Given the description of an element on the screen output the (x, y) to click on. 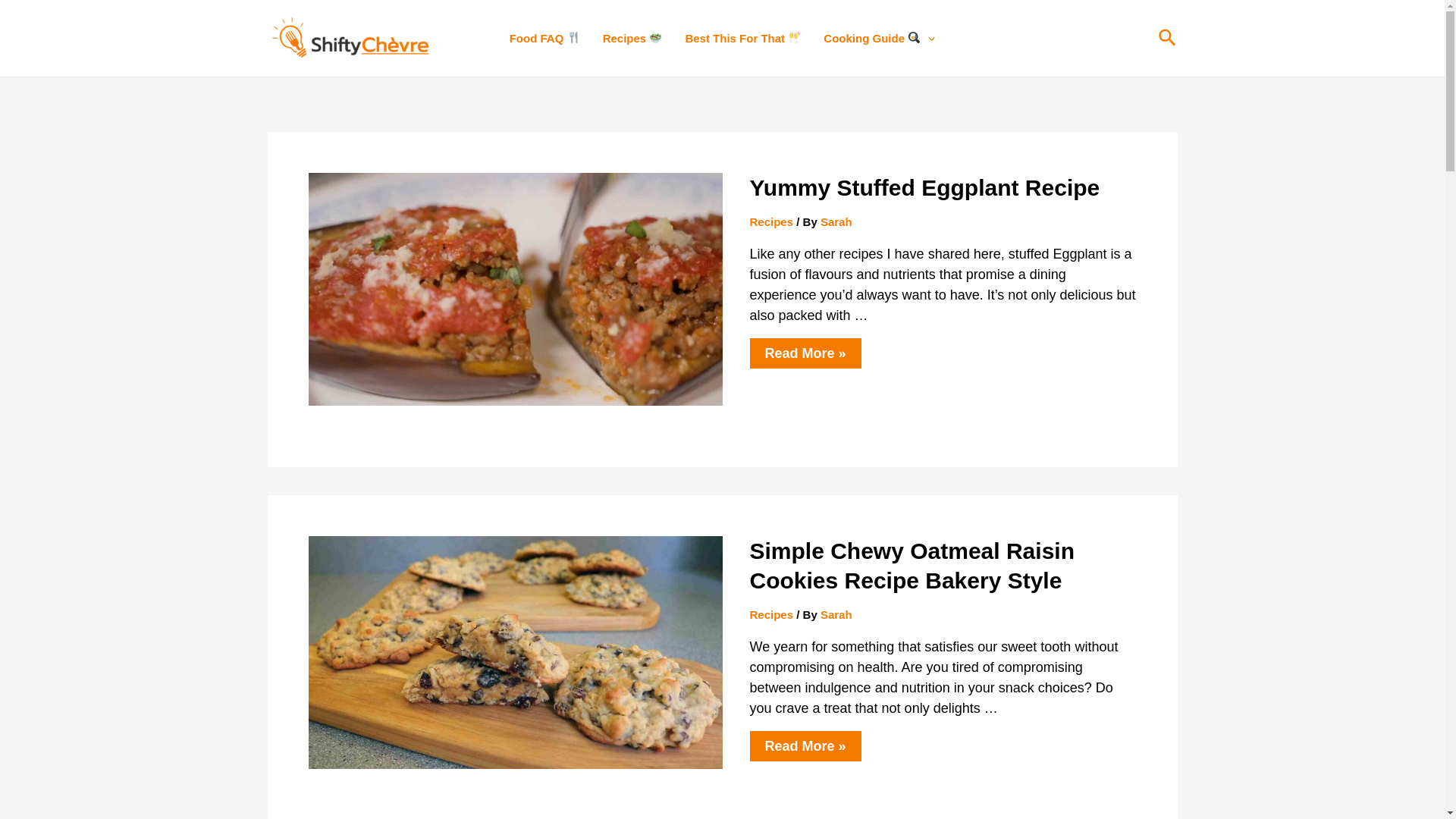
Recipes Element type: text (771, 221)
Sarah Element type: text (836, 221)
Food FAQ Element type: text (544, 37)
Yummy Stuffed Eggplant Recipe Element type: text (924, 187)
Recipes Element type: text (771, 614)
Sarah Element type: text (836, 614)
Best This For That Element type: text (742, 37)
Cooking Guide Element type: text (879, 37)
Simple Chewy Oatmeal Raisin Cookies Recipe Bakery Style Element type: text (911, 565)
Recipes Element type: text (632, 37)
